Given the description of an element on the screen output the (x, y) to click on. 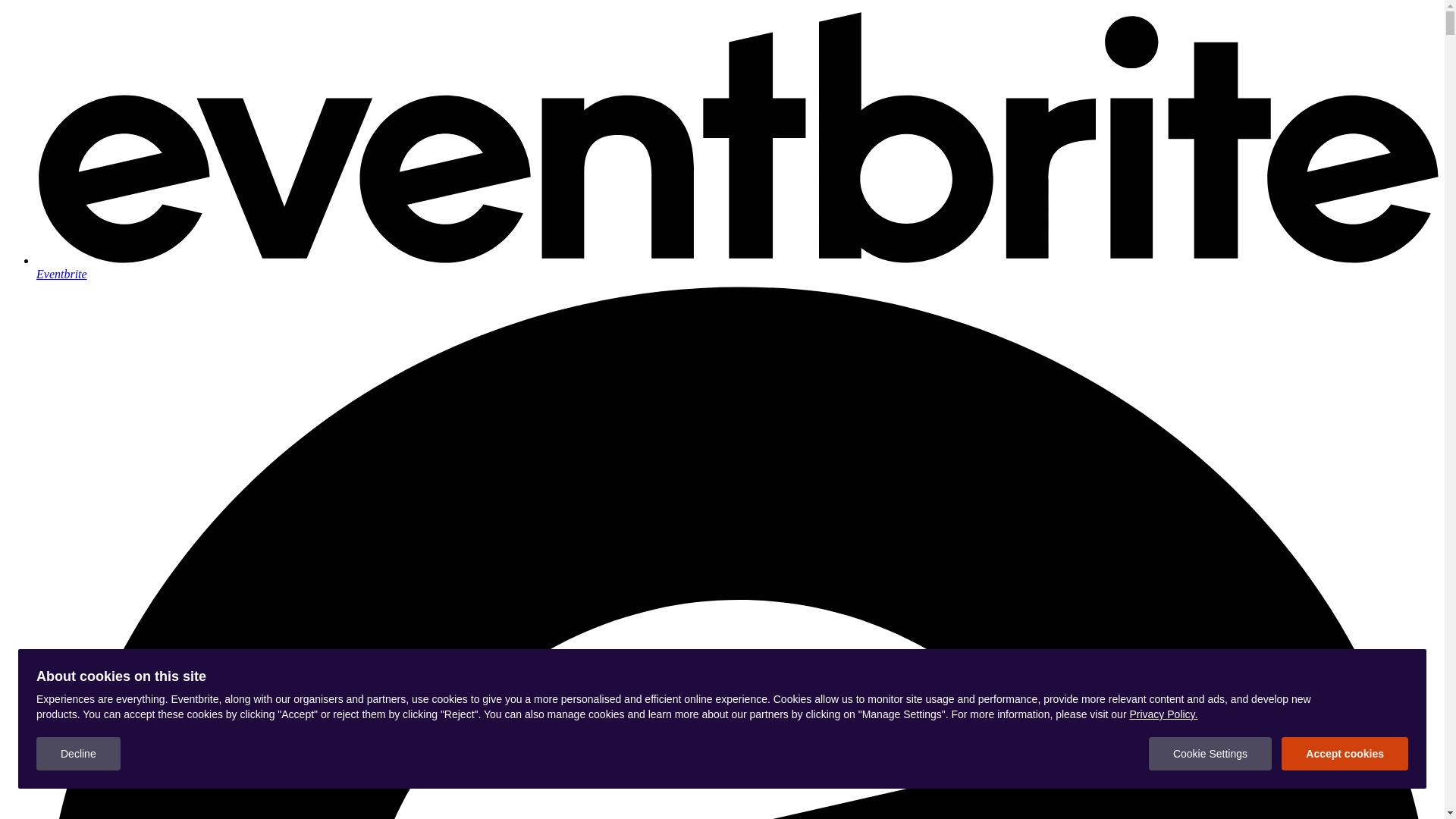
Cookie Settings Element type: text (1209, 753)
Eventbrite Element type: text (737, 267)
Privacy Policy. Element type: text (1163, 714)
Accept cookies Element type: text (1344, 753)
Decline Element type: text (78, 753)
